Given the description of an element on the screen output the (x, y) to click on. 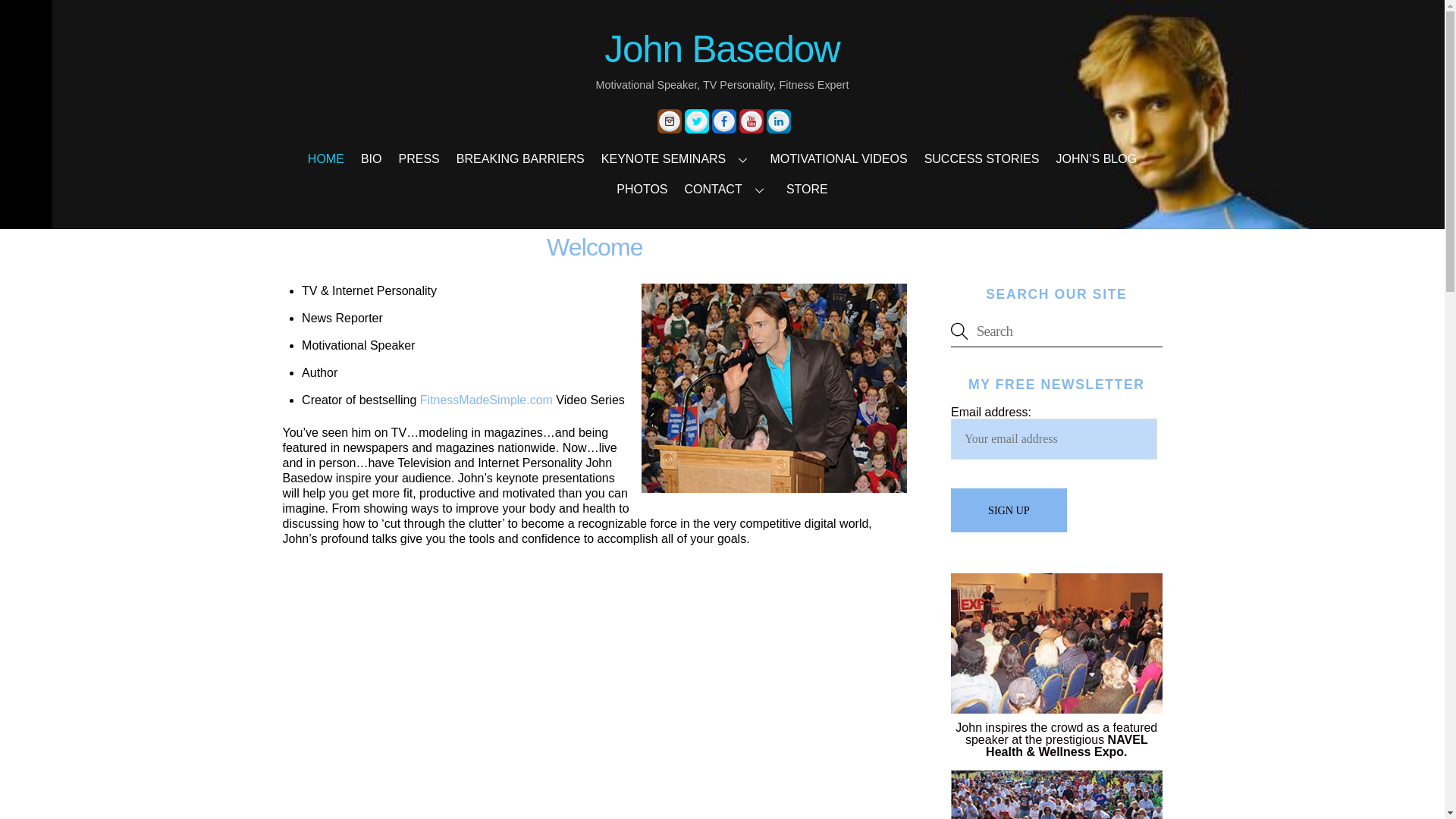
Sign up (1007, 509)
FitnessMadeSimple.com (486, 399)
Sign up (1007, 509)
PHOTOS (642, 188)
CONTACT (727, 188)
Search (1055, 330)
John Basedow (722, 48)
MOTIVATIONAL VIDEOS (838, 159)
John Basedow (722, 48)
HOME (325, 159)
KEYNOTE SEMINARS (677, 159)
STORE (806, 188)
SUCCESS STORIES (981, 159)
PRESS (418, 159)
BREAKING BARRIERS (520, 159)
